Given the description of an element on the screen output the (x, y) to click on. 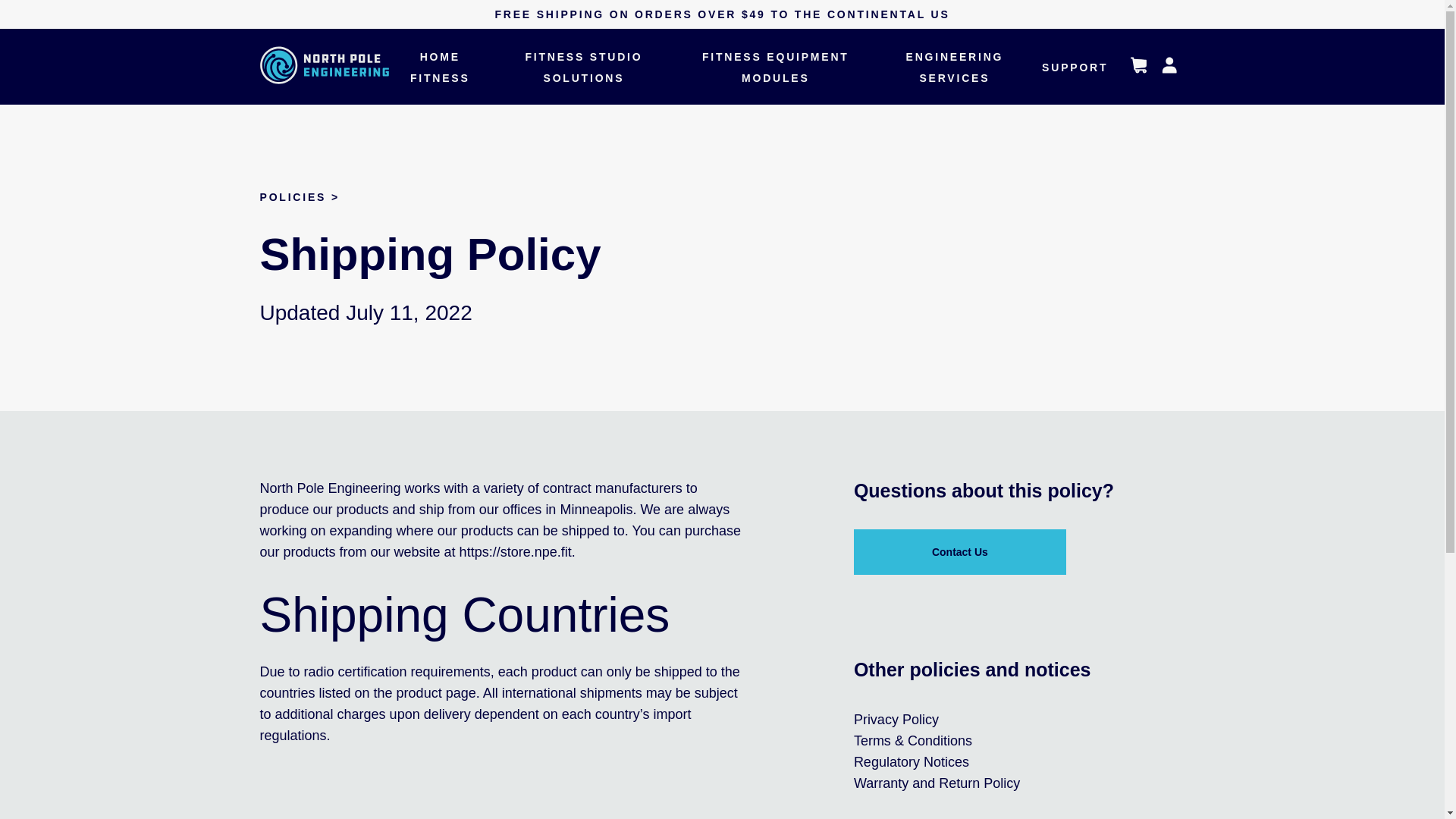
FITNESS EQUIPMENT MODULES (774, 67)
ENGINEERING SERVICES (954, 67)
FITNESS STUDIO SOLUTIONS (583, 67)
Contact Us (959, 551)
SUPPORT (1075, 67)
Privacy Policy (896, 718)
HOME FITNESS (440, 67)
Warranty and Return Policy (936, 782)
Regulatory Notices (911, 761)
Log in (1169, 66)
